Given the description of an element on the screen output the (x, y) to click on. 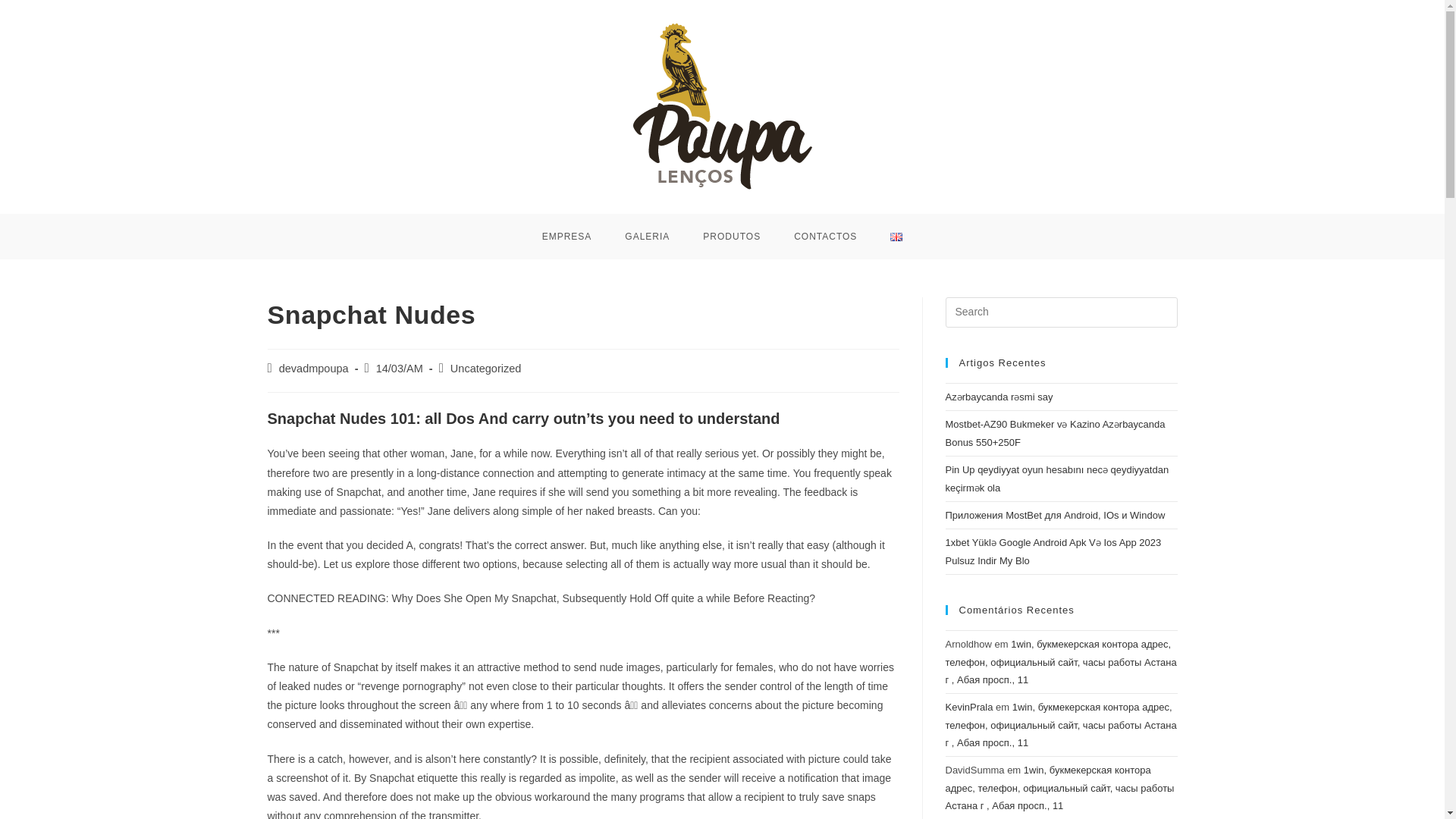
PRODUTOS (731, 236)
CONTACTOS (825, 236)
devadmpoupa (314, 368)
EMPRESA (566, 236)
Uncategorized (485, 368)
GALERIA (646, 236)
Artigos de devadmpoupa (314, 368)
KevinPrala (968, 706)
